Given the description of an element on the screen output the (x, y) to click on. 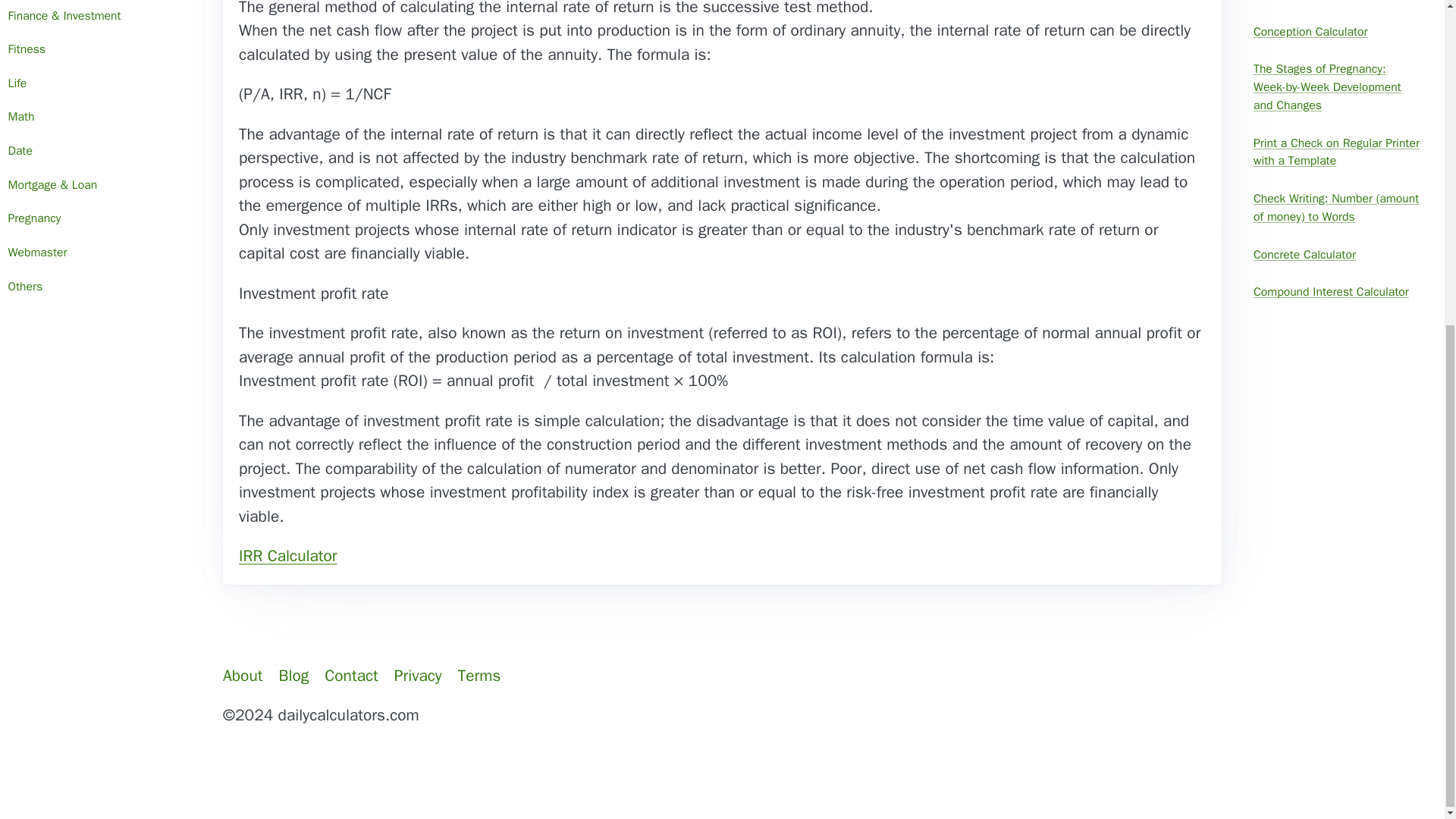
Contact (351, 676)
Concrete Calculator (1337, 254)
Others (99, 286)
Privacy (417, 676)
Print a Check on Regular Printer with a Template (1337, 152)
Advertisement (721, 777)
Math (99, 117)
IRR Calculator (287, 555)
About (242, 676)
Fitness (99, 50)
Terms (478, 676)
Pregnancy (99, 219)
Webmaster (99, 252)
Compound Interest Calculator (1337, 292)
